Given the description of an element on the screen output the (x, y) to click on. 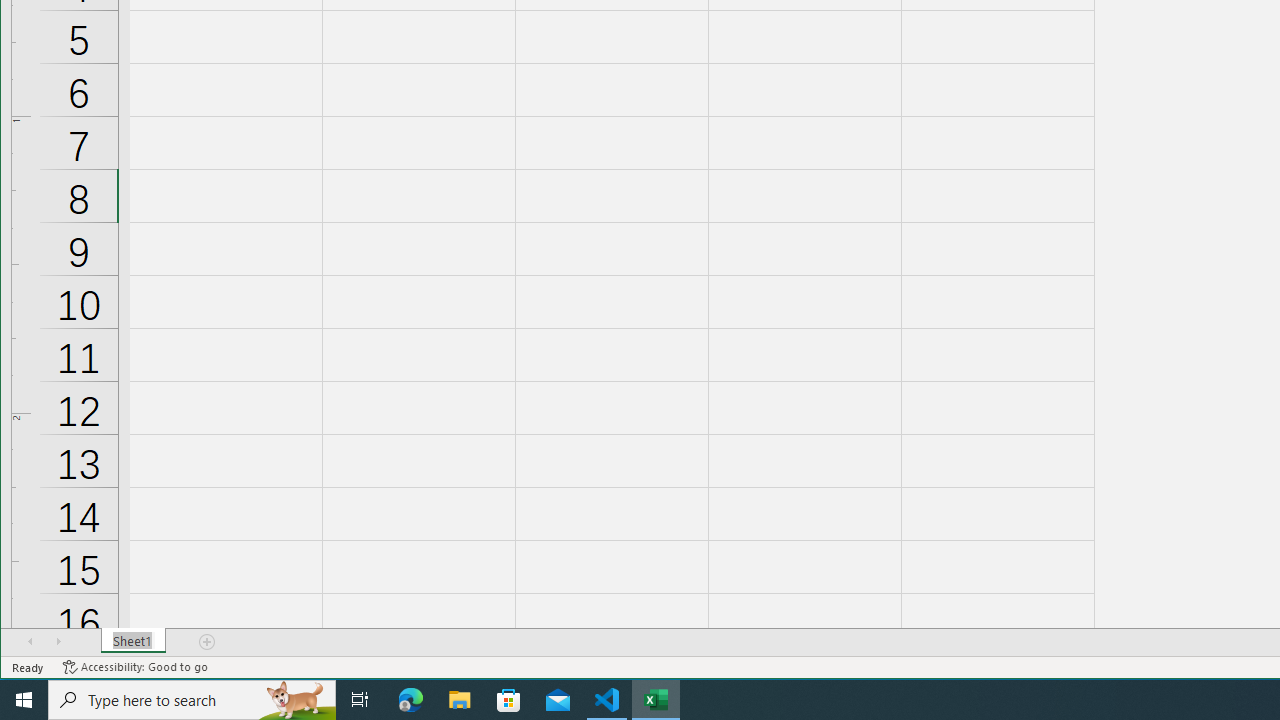
Visual Studio Code - 1 running window (607, 699)
